Given the description of an element on the screen output the (x, y) to click on. 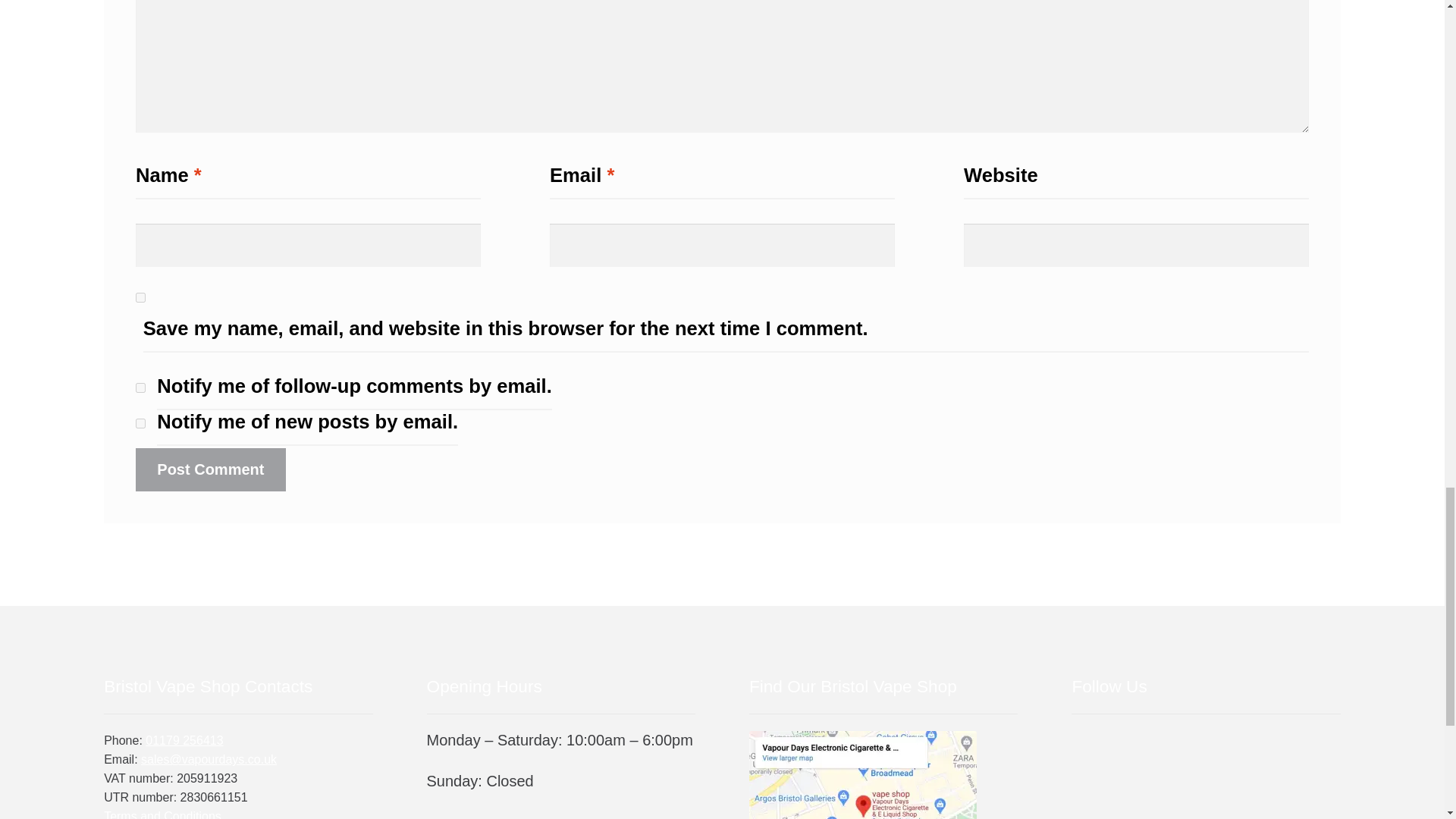
subscribe (140, 388)
yes (140, 297)
subscribe (140, 423)
Post Comment (210, 469)
